Given the description of an element on the screen output the (x, y) to click on. 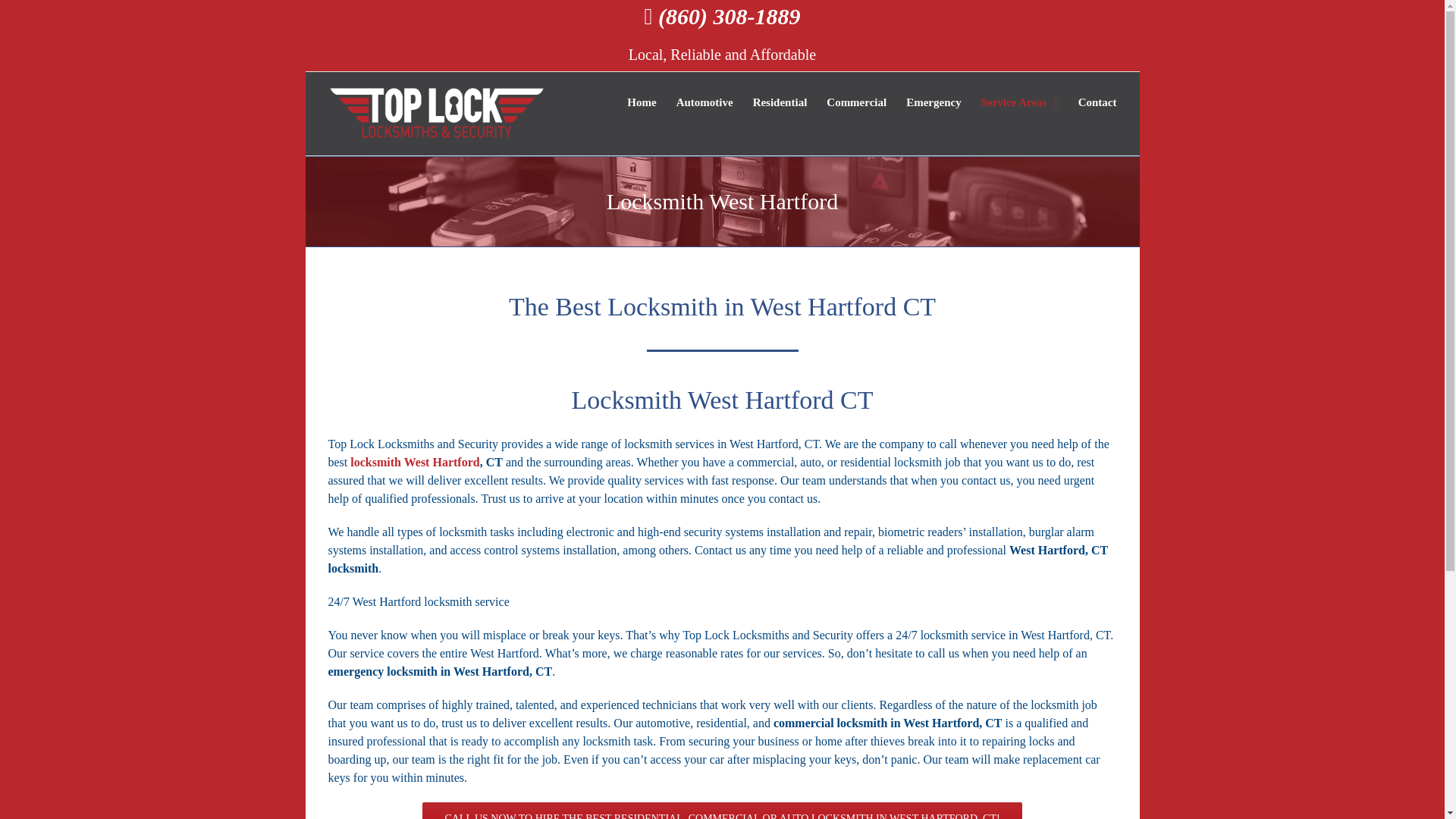
locksmith West Hartford (414, 461)
Service Areas (1019, 103)
Commercial (856, 103)
Automotive (705, 103)
